Given the description of an element on the screen output the (x, y) to click on. 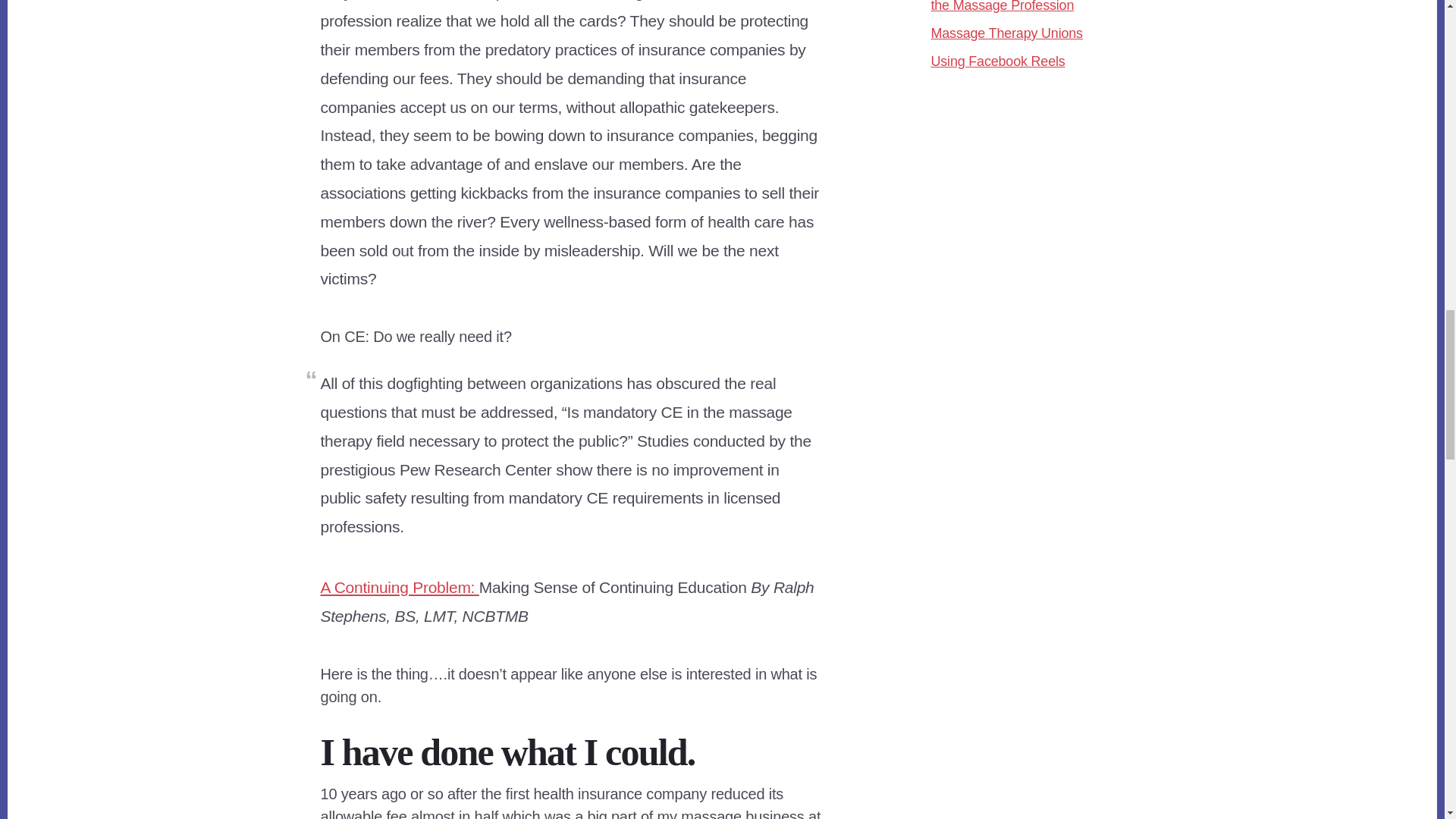
A Continuing Problem: (399, 587)
